Given the description of an element on the screen output the (x, y) to click on. 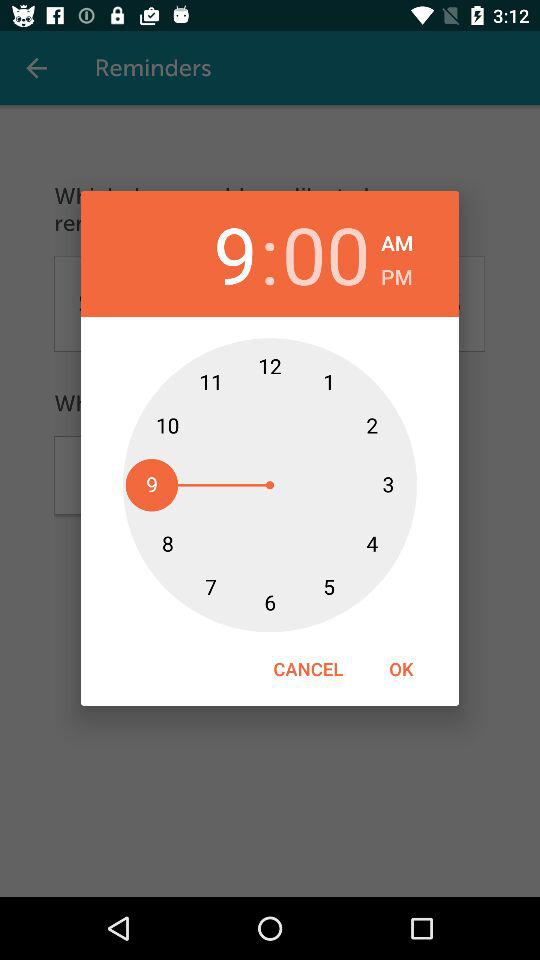
press icon next to the : item (325, 253)
